Given the description of an element on the screen output the (x, y) to click on. 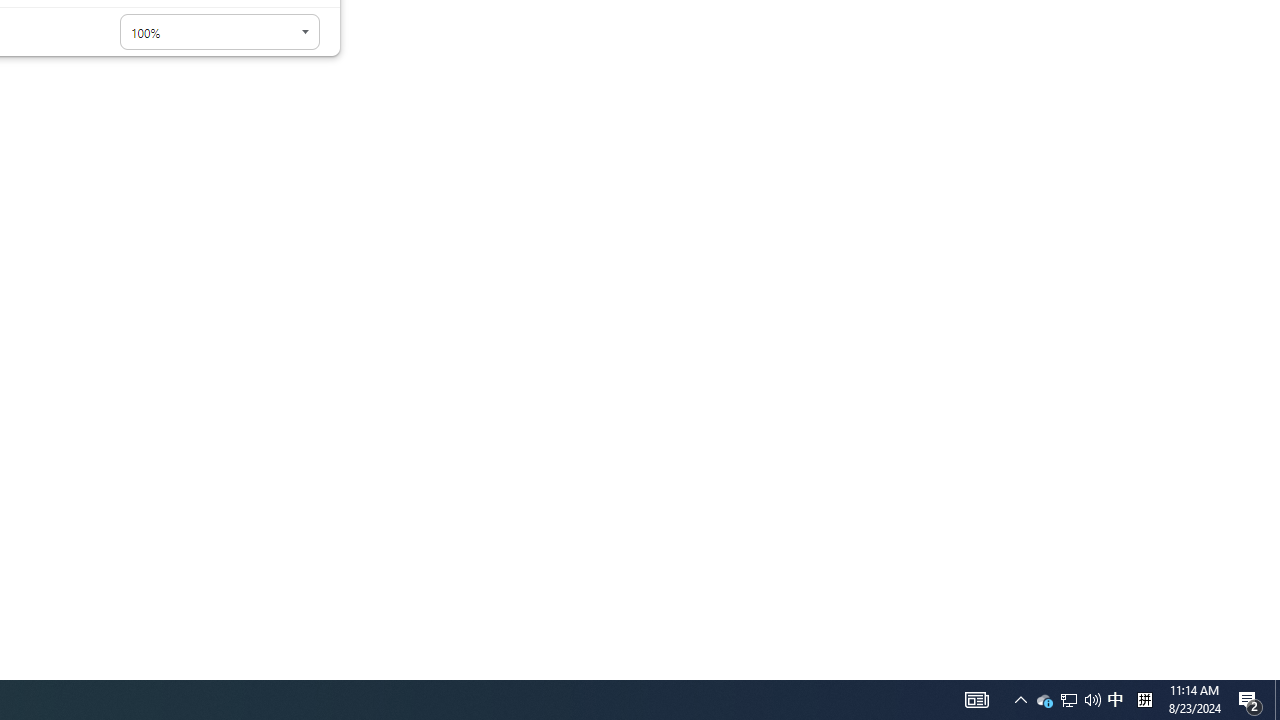
Page zoom (219, 32)
